Given the description of an element on the screen output the (x, y) to click on. 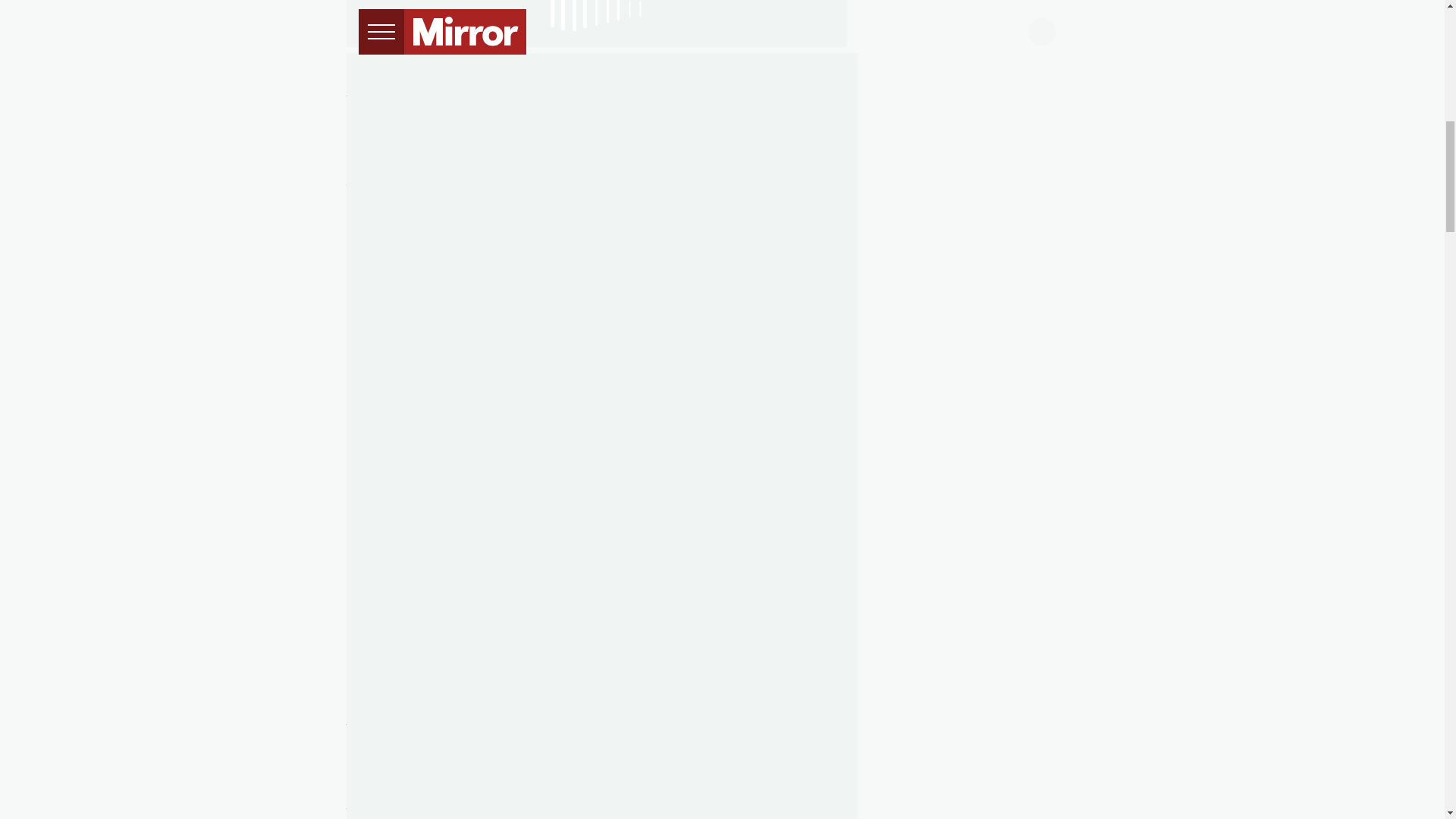
Beer (360, 61)
subscribe online here (467, 427)
Hopsmore (630, 318)
